Given the description of an element on the screen output the (x, y) to click on. 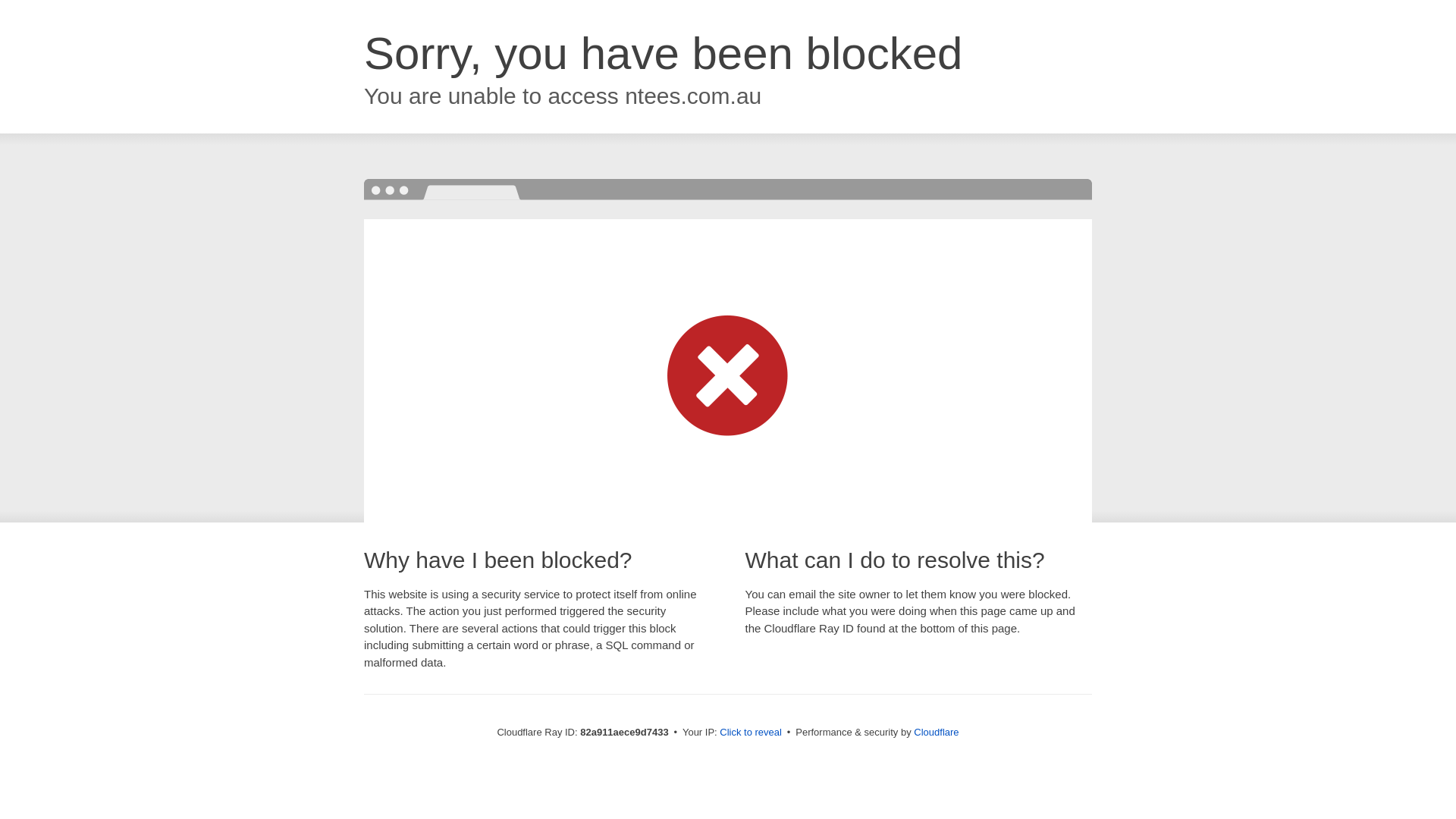
Cloudflare Element type: text (935, 731)
Click to reveal Element type: text (750, 732)
